Given the description of an element on the screen output the (x, y) to click on. 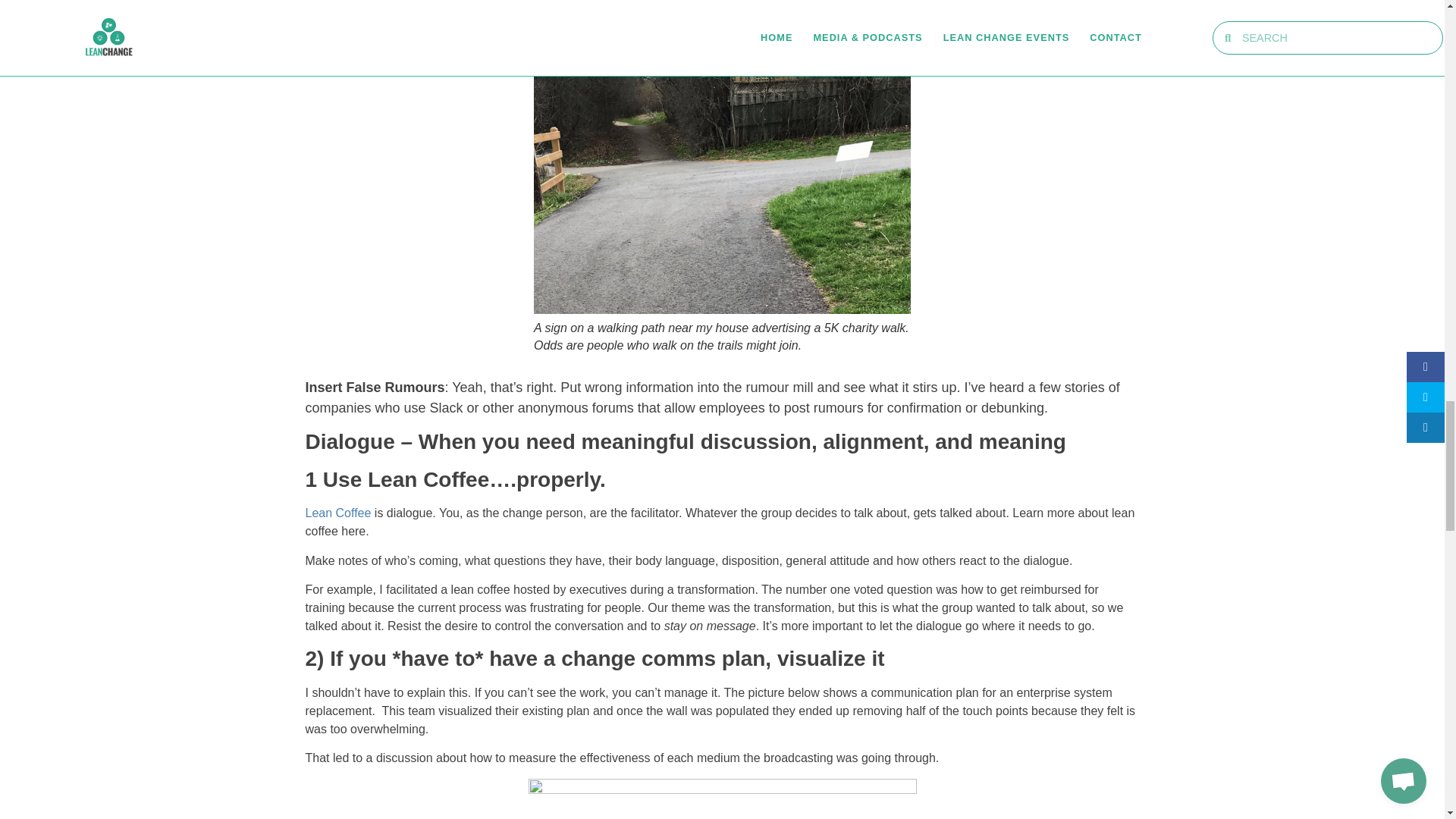
Lean Coffee (337, 512)
